Given the description of an element on the screen output the (x, y) to click on. 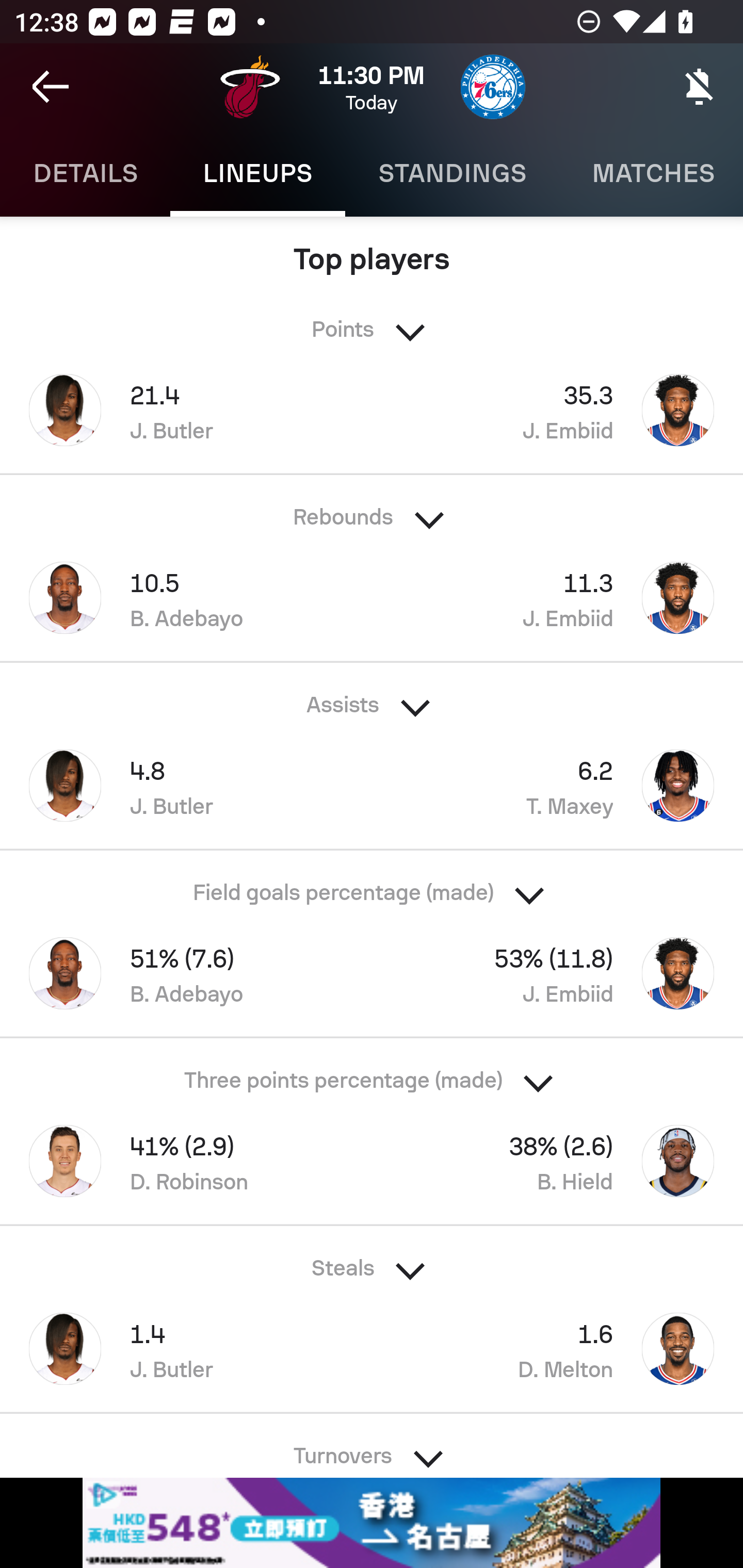
Navigate up (50, 86)
Details DETAILS (85, 173)
Standings STANDINGS (451, 173)
Matches MATCHES (650, 173)
Top players (371, 251)
Points (371, 322)
21.4 J. Butler (185, 409)
35.3 J. Embiid (557, 409)
Rebounds (371, 511)
10.5 B. Adebayo (185, 597)
11.3 J. Embiid (557, 597)
Assists (371, 699)
4.8 J. Butler (185, 785)
6.2 T. Maxey (557, 785)
Field goals percentage (made) (371, 885)
51% (7.6) B. Adebayo (185, 972)
53% (11.8) J. Embiid (557, 972)
Three points percentage (made) (371, 1074)
41% (2.9) D. Robinson (185, 1161)
38% (2.6) B. Hield (557, 1161)
Steals (371, 1262)
1.4 J. Butler (185, 1348)
1.6 D. Melton (557, 1348)
Turnovers (371, 1445)
ysfecx5i_320x50 (371, 1522)
